Given the description of an element on the screen output the (x, y) to click on. 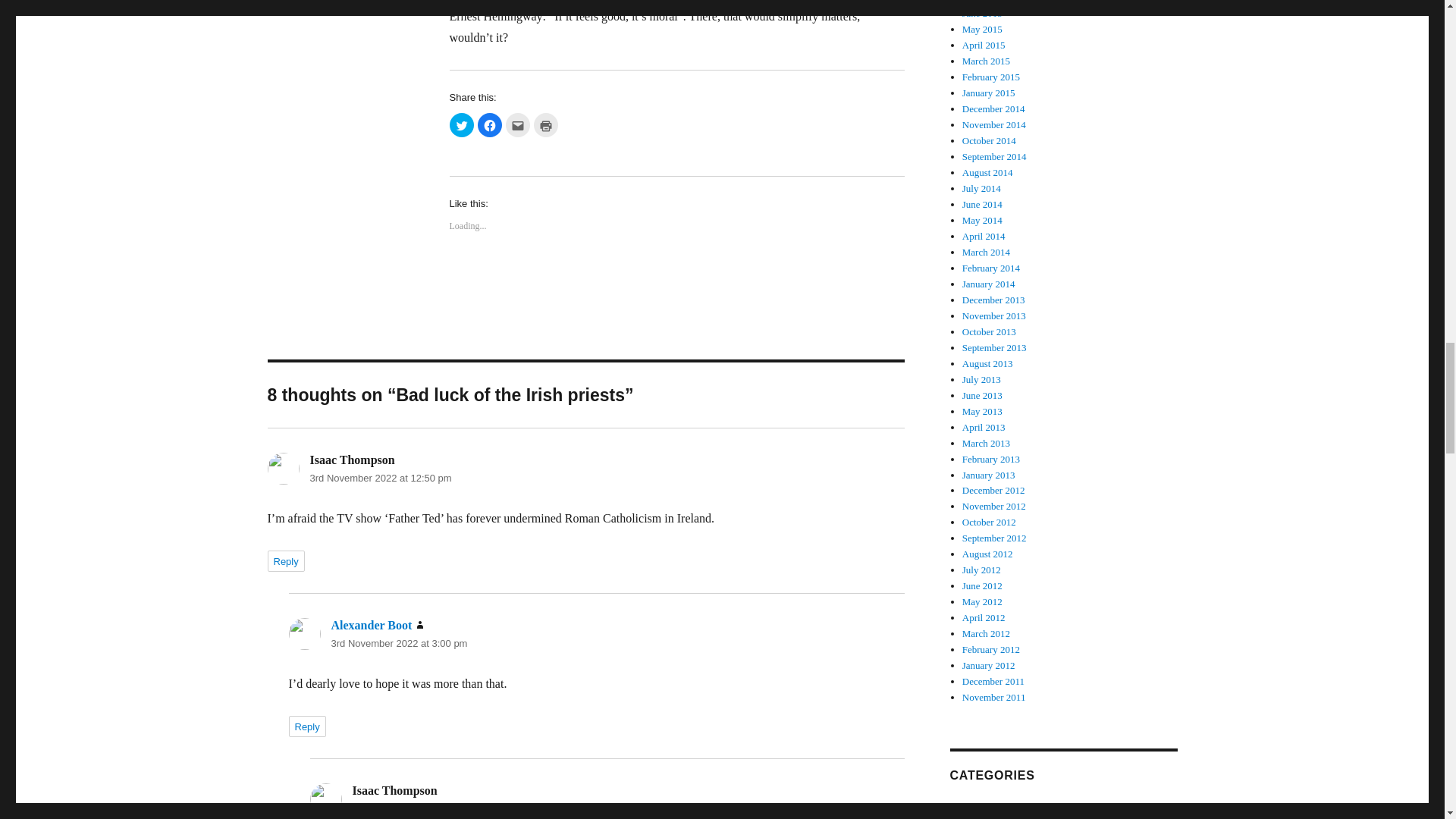
Click to share on Twitter (460, 125)
3rd November 2022 at 3:00 pm (398, 643)
Click to email this to a friend (517, 125)
Reply (306, 726)
Reply (285, 560)
3rd November 2022 at 12:50 pm (379, 478)
Alexander Boot (371, 625)
Click to print (545, 125)
3rd November 2022 at 3:17 pm (419, 808)
Click to share on Facebook (489, 125)
